Given the description of an element on the screen output the (x, y) to click on. 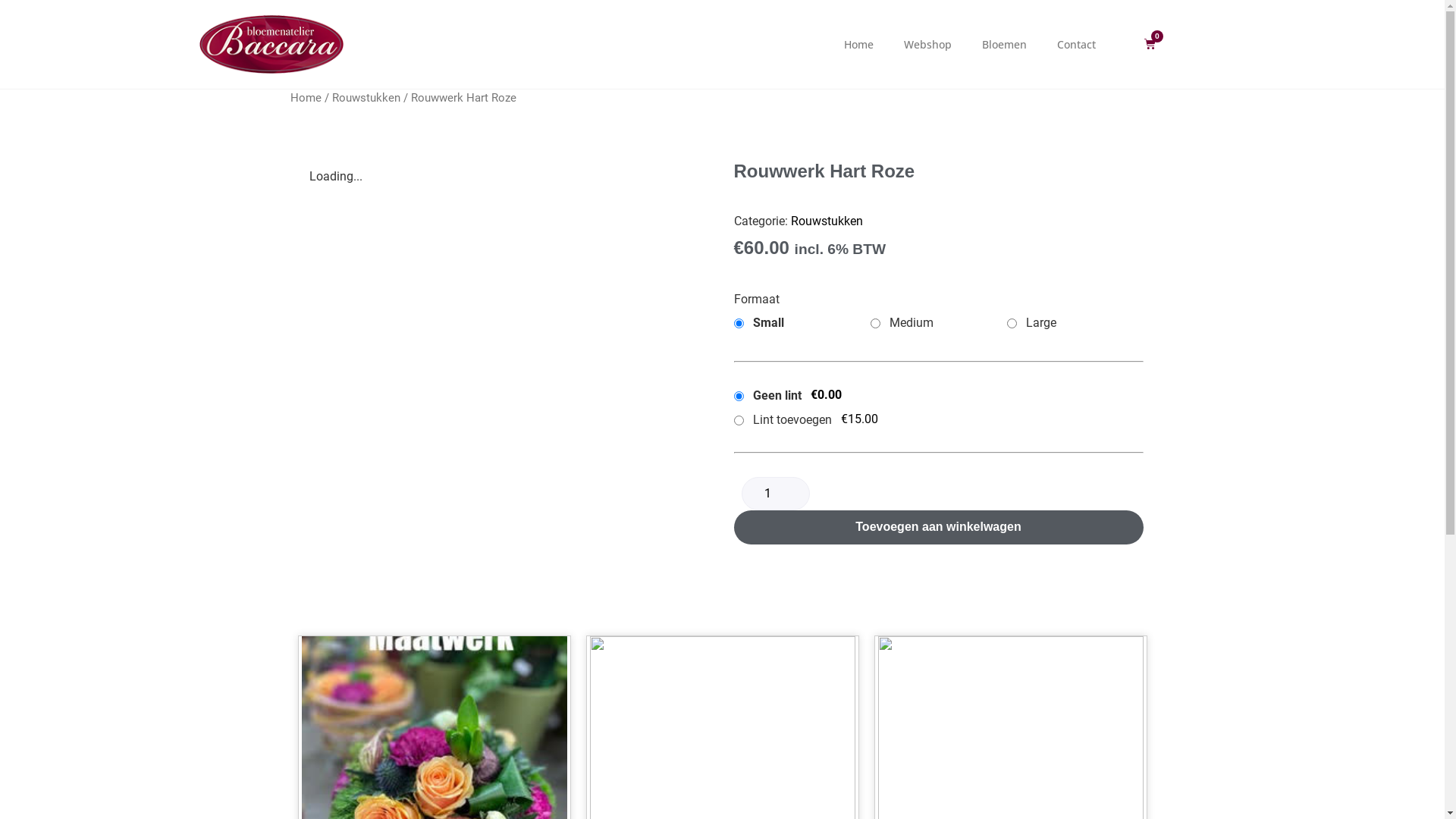
Bloemen Element type: text (1003, 44)
Contact Element type: text (1075, 44)
0 Element type: text (1149, 43)
Rouwstukken Element type: text (366, 97)
Home Element type: text (304, 97)
Rouwstukken Element type: text (826, 220)
Toevoegen aan winkelwagen Element type: text (938, 527)
Home Element type: text (858, 44)
Webshop Element type: text (927, 44)
